Given the description of an element on the screen output the (x, y) to click on. 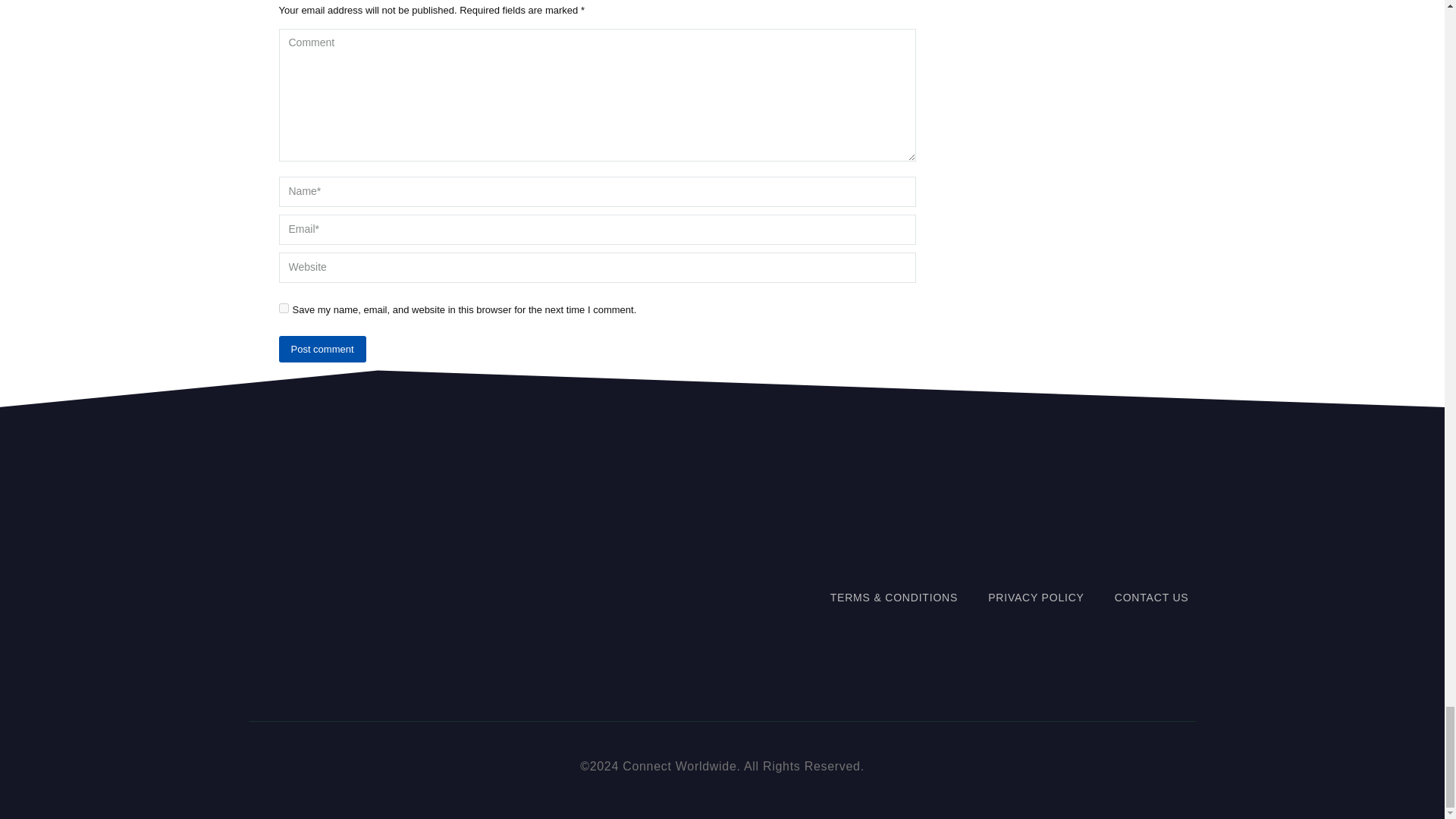
yes (283, 307)
